Given the description of an element on the screen output the (x, y) to click on. 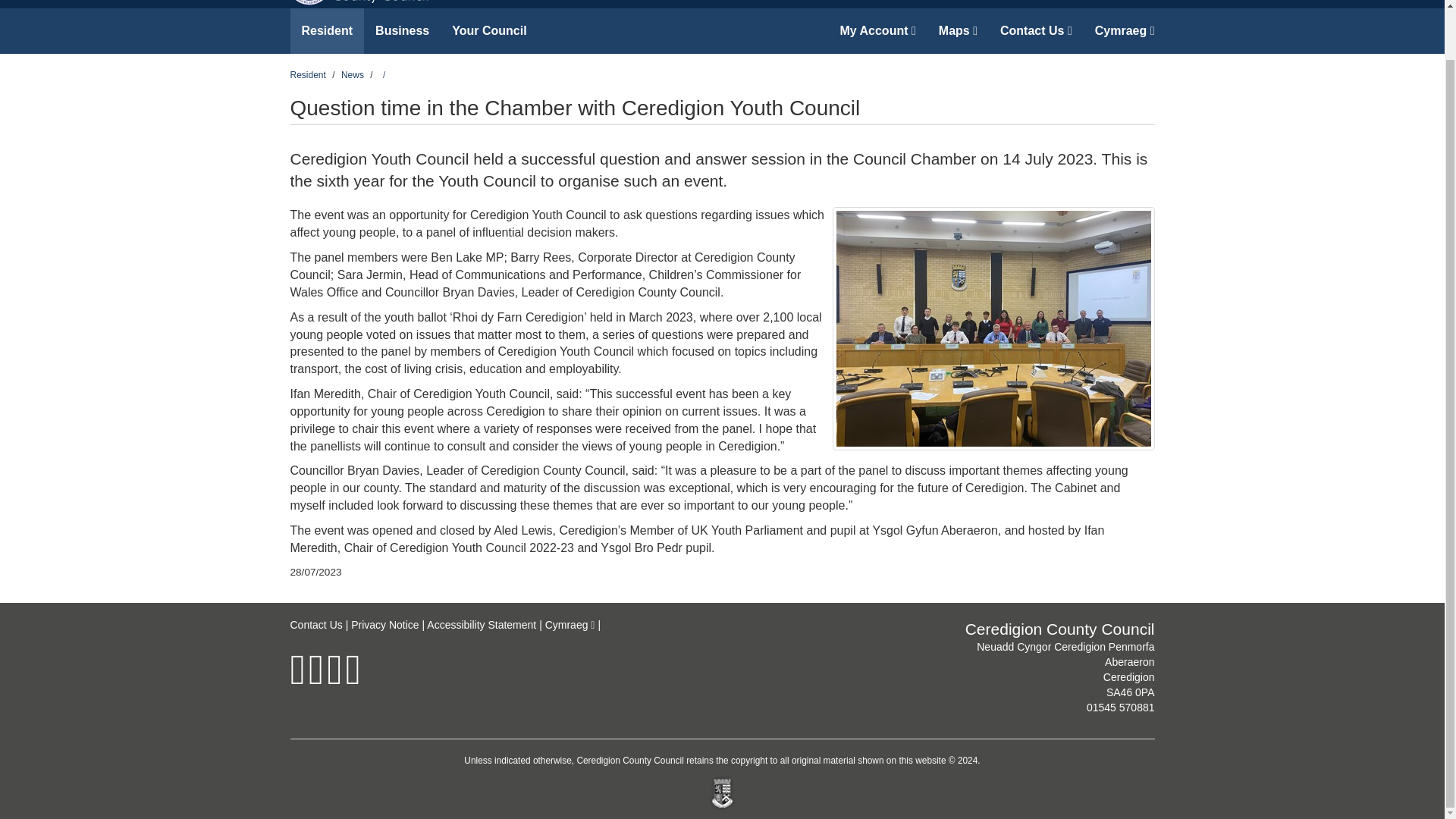
Twitter (315, 680)
News (352, 74)
Instagram (334, 680)
Maps (957, 31)
Twitter (315, 680)
Resident (326, 31)
Privacy Notice (384, 624)
My Account (877, 31)
Facebook (296, 680)
Facebook (296, 680)
Resident (306, 74)
YouTube (353, 680)
Business (402, 31)
Cymraeg (569, 624)
Accessibility Statement (480, 624)
